Given the description of an element on the screen output the (x, y) to click on. 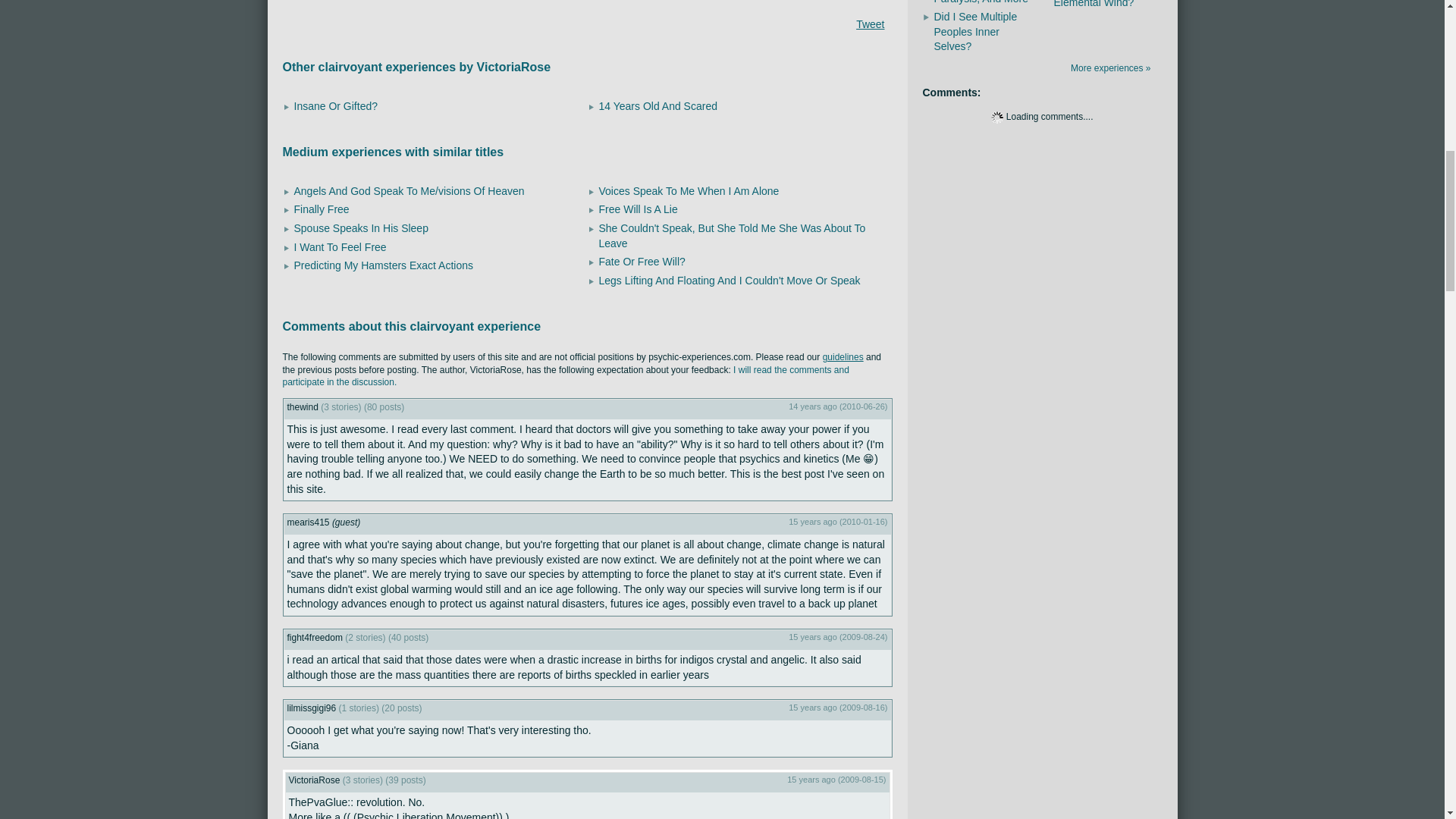
14 Years Old And Scared (657, 105)
Predicting My Hamsters Exact Actions (384, 265)
She Couldn't Speak, But She Told Me She Was About To Leave (732, 235)
Free Will Is A Lie (638, 209)
Spouse Speaks In His Sleep (361, 227)
Voices Speak To Me When I Am Alone (688, 191)
Finally Free (321, 209)
Insane Or Gifted? (336, 105)
I Want To Feel Free (340, 246)
Tweet (869, 24)
